Given the description of an element on the screen output the (x, y) to click on. 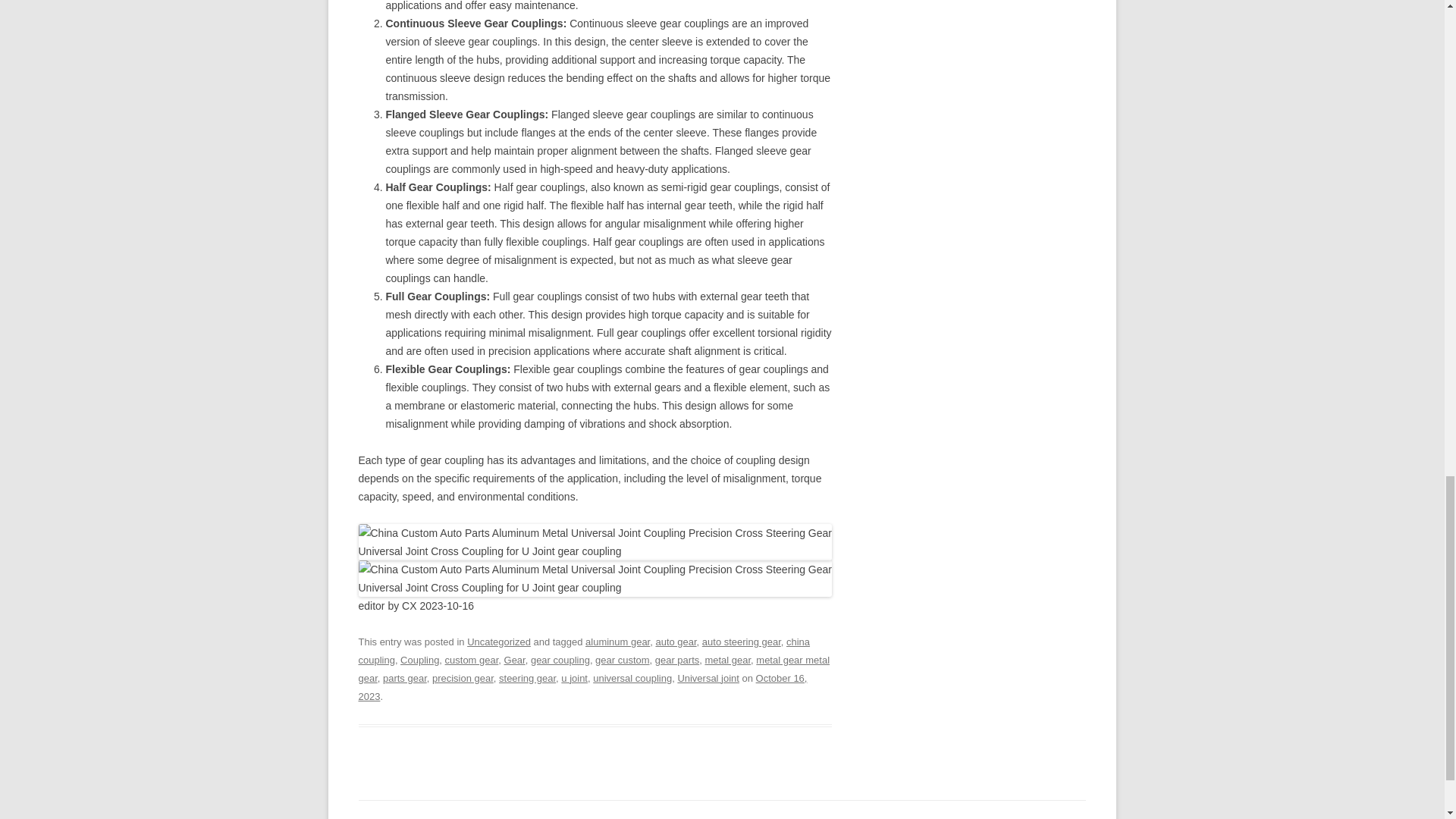
aluminum gear (617, 641)
Coupling (419, 659)
china coupling (583, 650)
auto steering gear (740, 641)
12:54 am (582, 686)
Gear (514, 659)
gear parts (676, 659)
custom gear (472, 659)
u joint (574, 677)
universal coupling (631, 677)
gear custom (622, 659)
Universal joint (708, 677)
October 16, 2023 (582, 686)
metal gear (727, 659)
metal gear metal gear (593, 668)
